Given the description of an element on the screen output the (x, y) to click on. 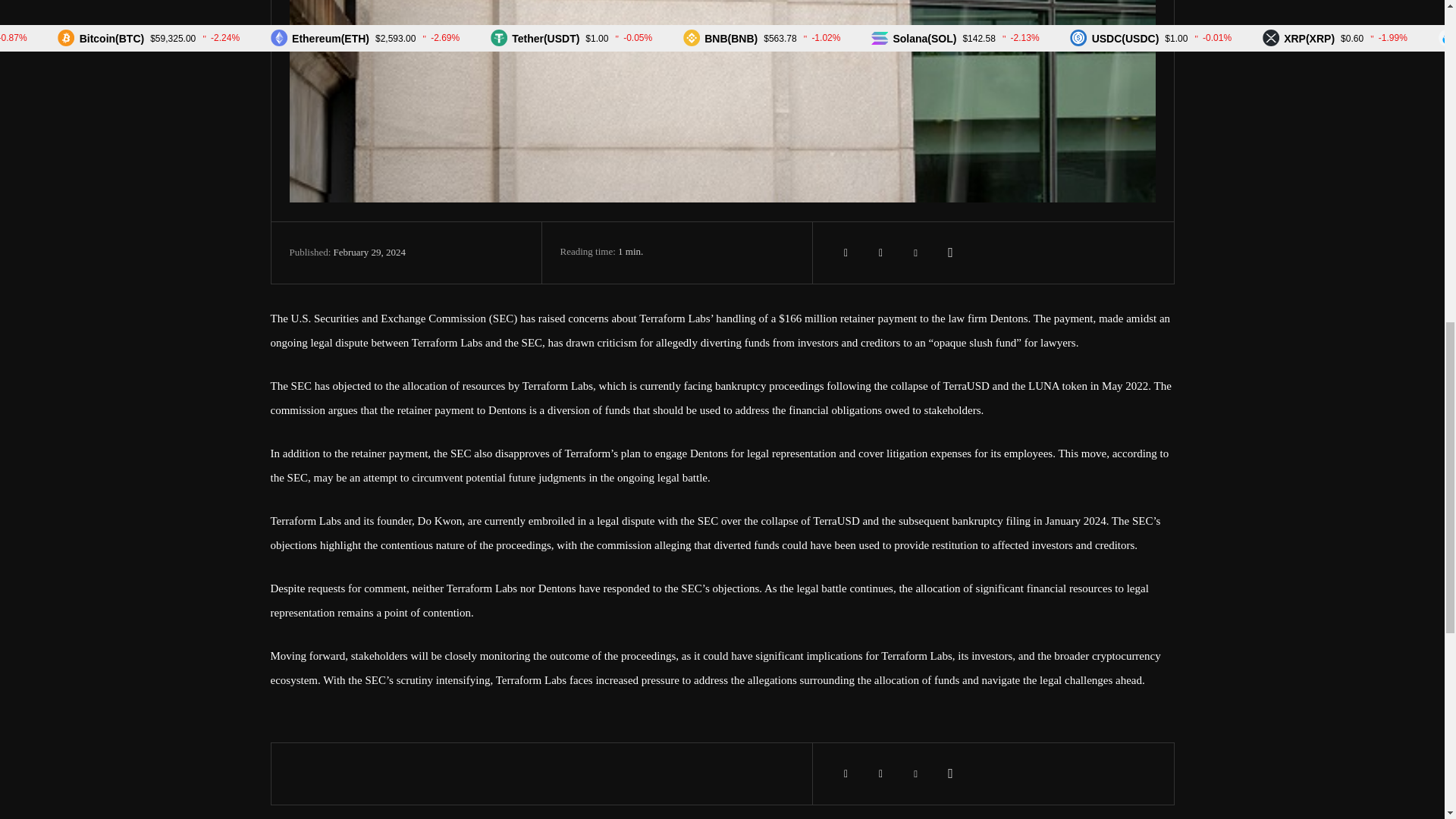
Facebook (846, 773)
Pinterest (916, 773)
WhatsApp (951, 773)
Facebook (846, 252)
Twitter (881, 773)
WhatsApp (951, 252)
Twitter (881, 252)
Pinterest (916, 252)
